Given the description of an element on the screen output the (x, y) to click on. 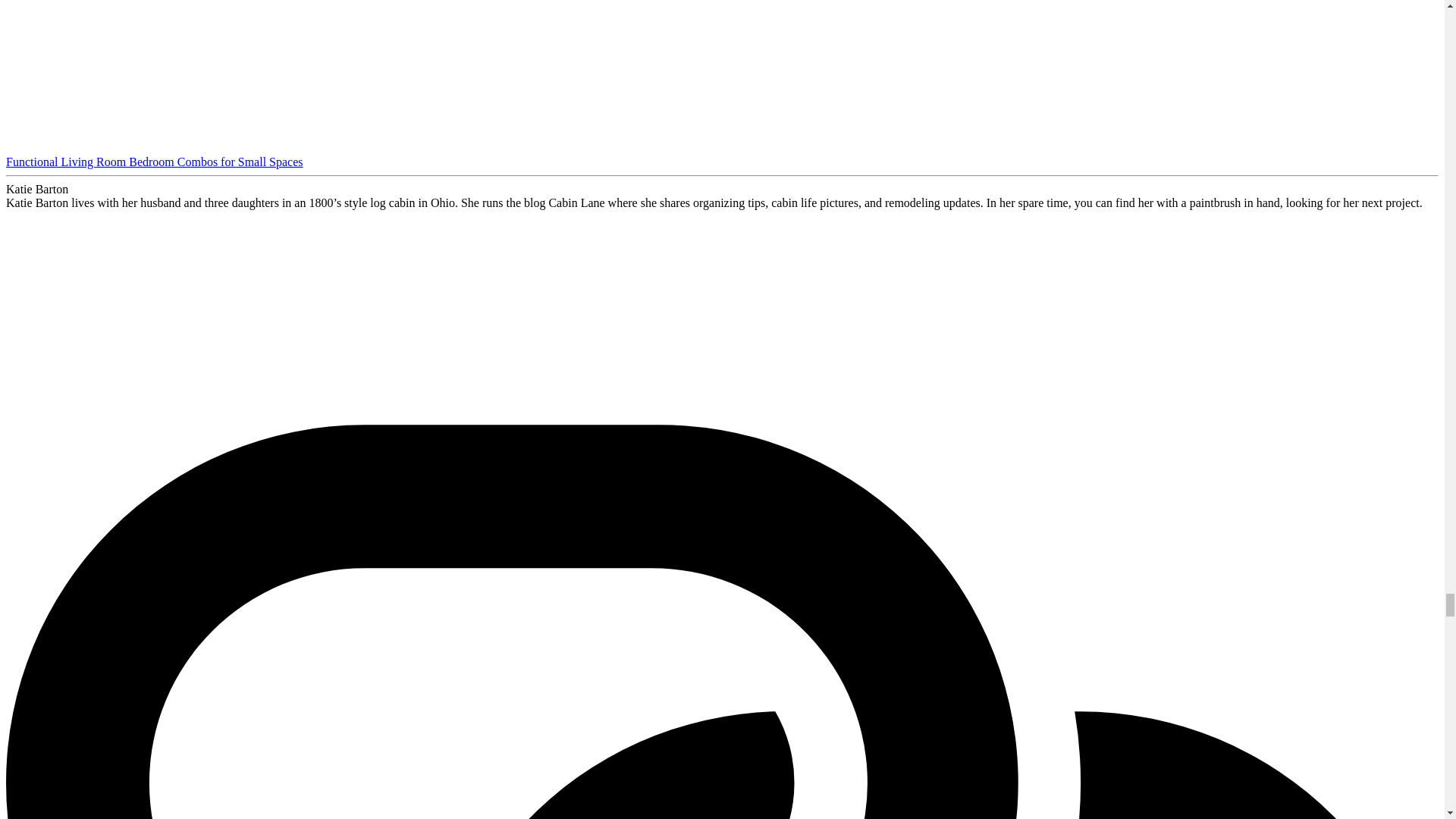
Functional Living Room Bedroom Combos for Small Spaces (206, 70)
